Given the description of an element on the screen output the (x, y) to click on. 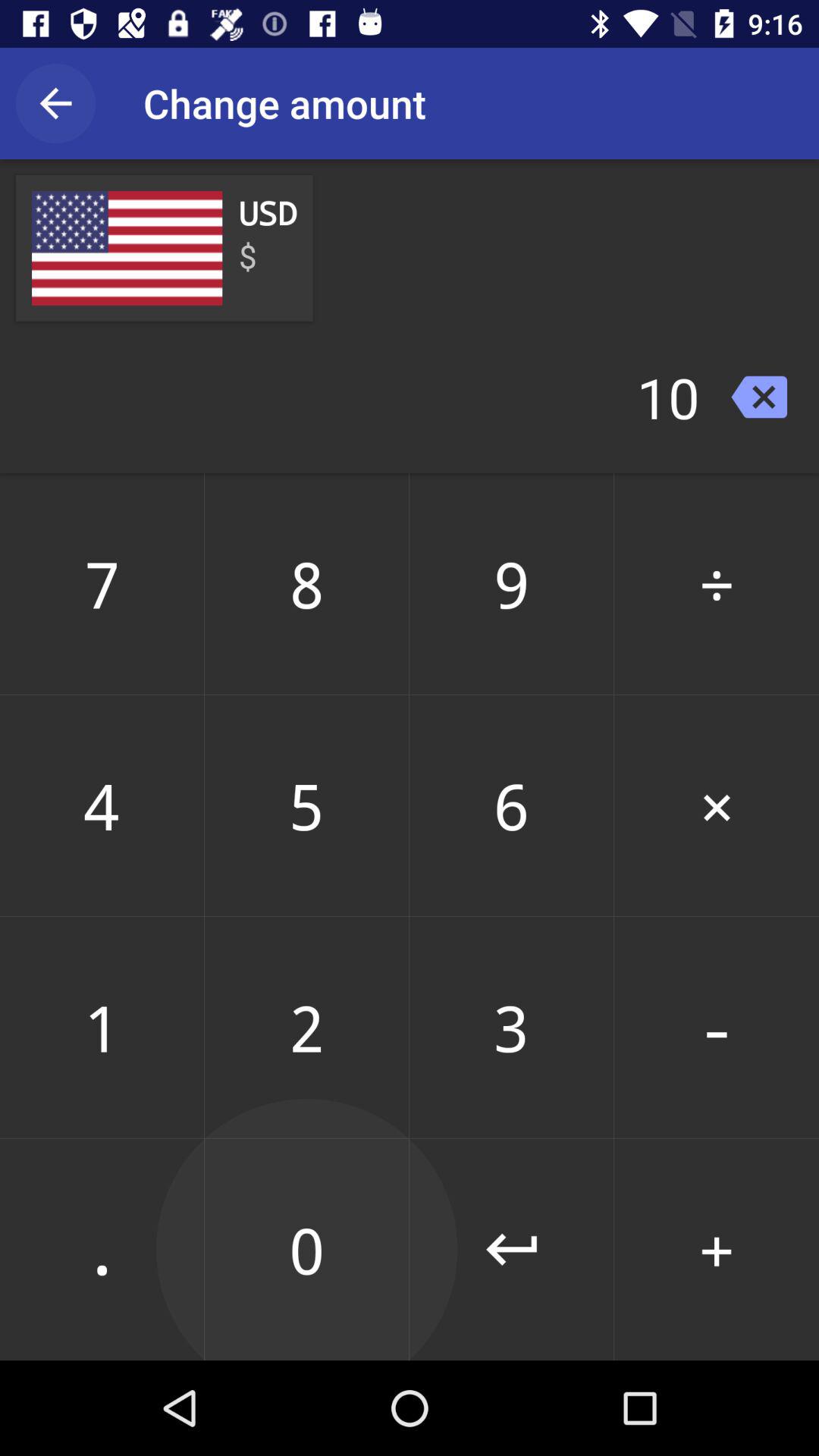
turn off icon next to the 3 item (716, 1249)
